Given the description of an element on the screen output the (x, y) to click on. 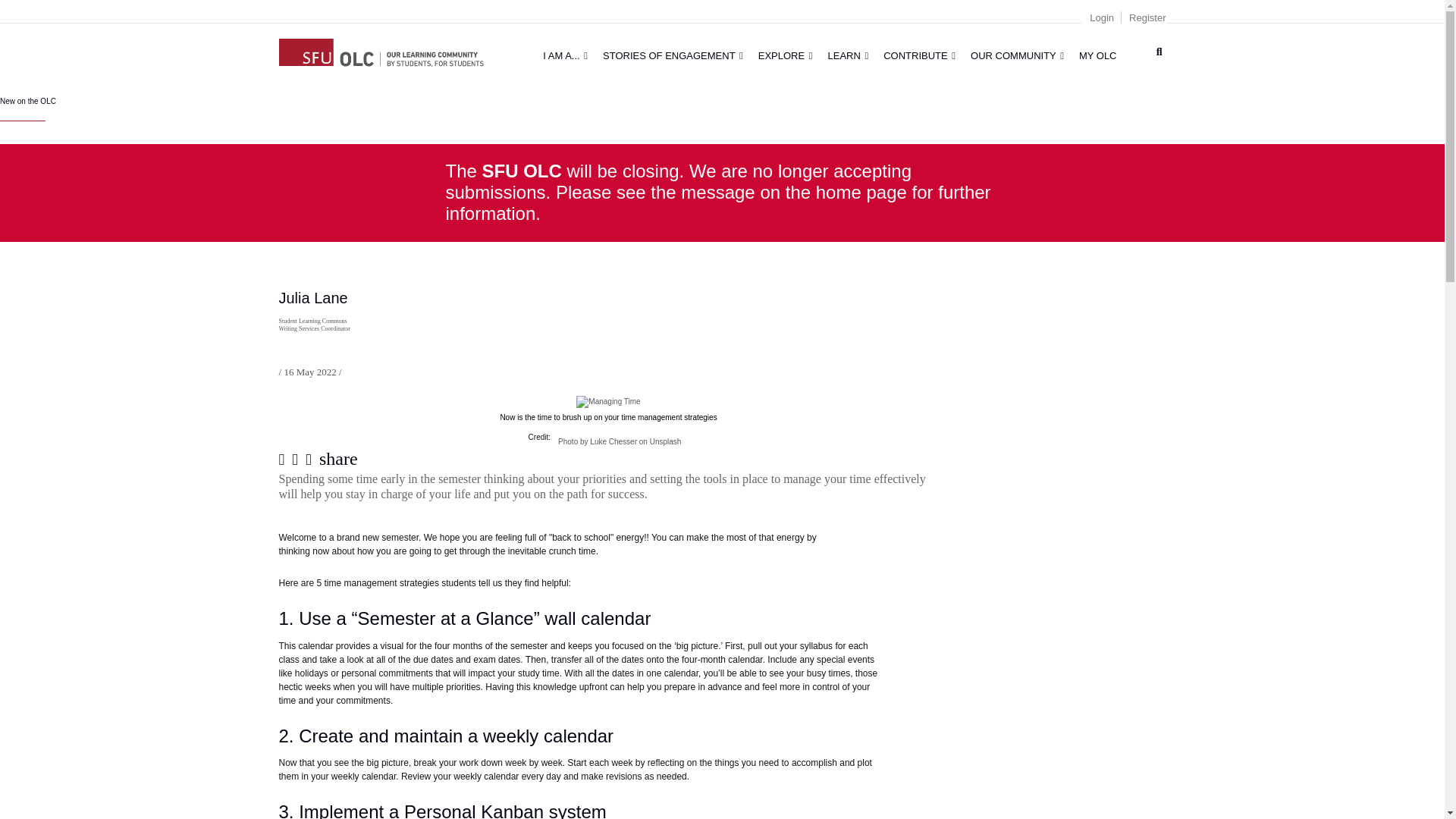
I AM A... (565, 55)
STORIES OF ENGAGEMENT (673, 55)
EXPLORE (786, 55)
LEARN (848, 55)
Login (1101, 17)
Home (381, 50)
OUR COMMUNITY (1016, 55)
Register (1147, 17)
CONTRIBUTE (919, 55)
